Given the description of an element on the screen output the (x, y) to click on. 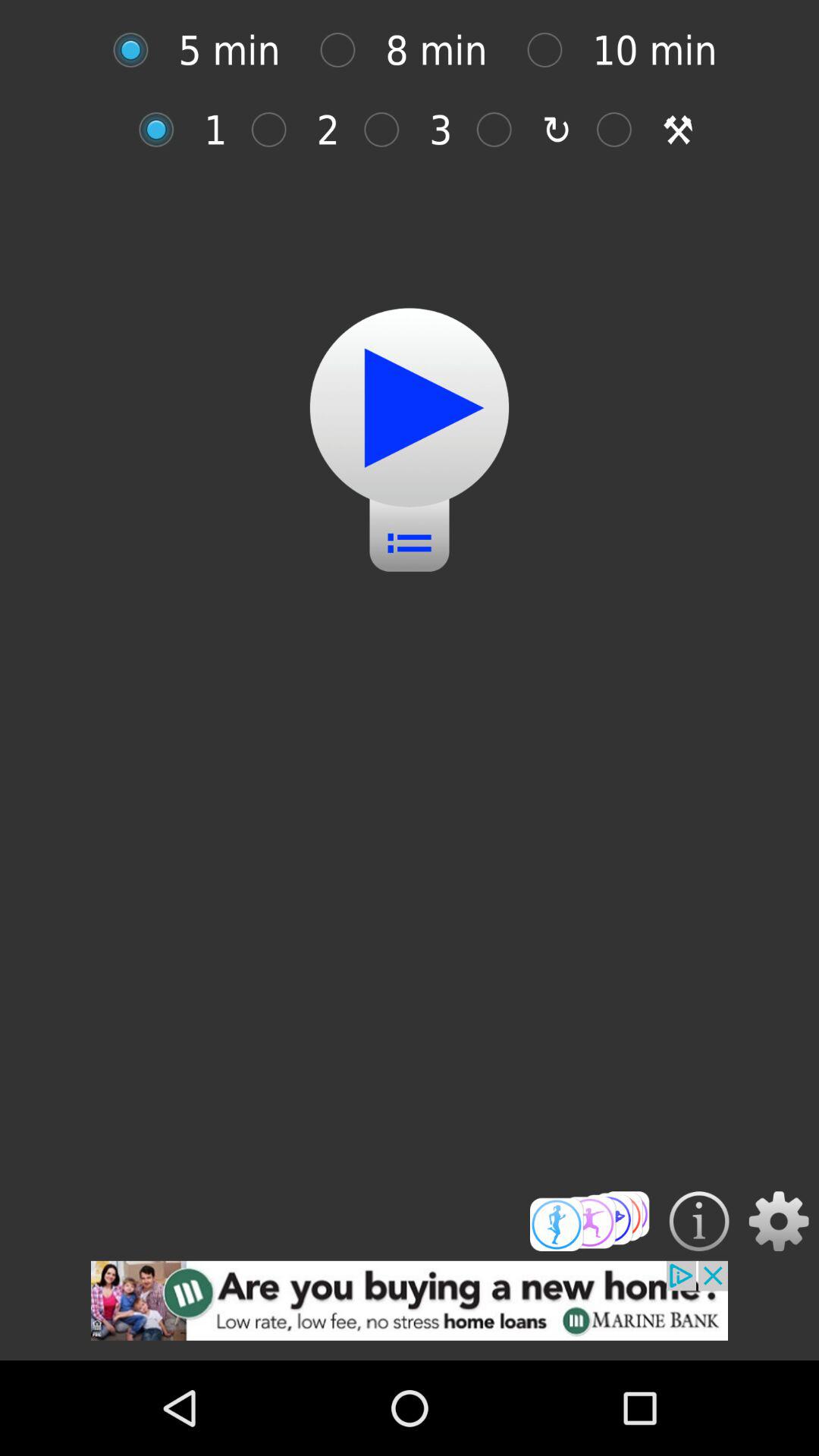
to select time option (138, 49)
